Given the description of an element on the screen output the (x, y) to click on. 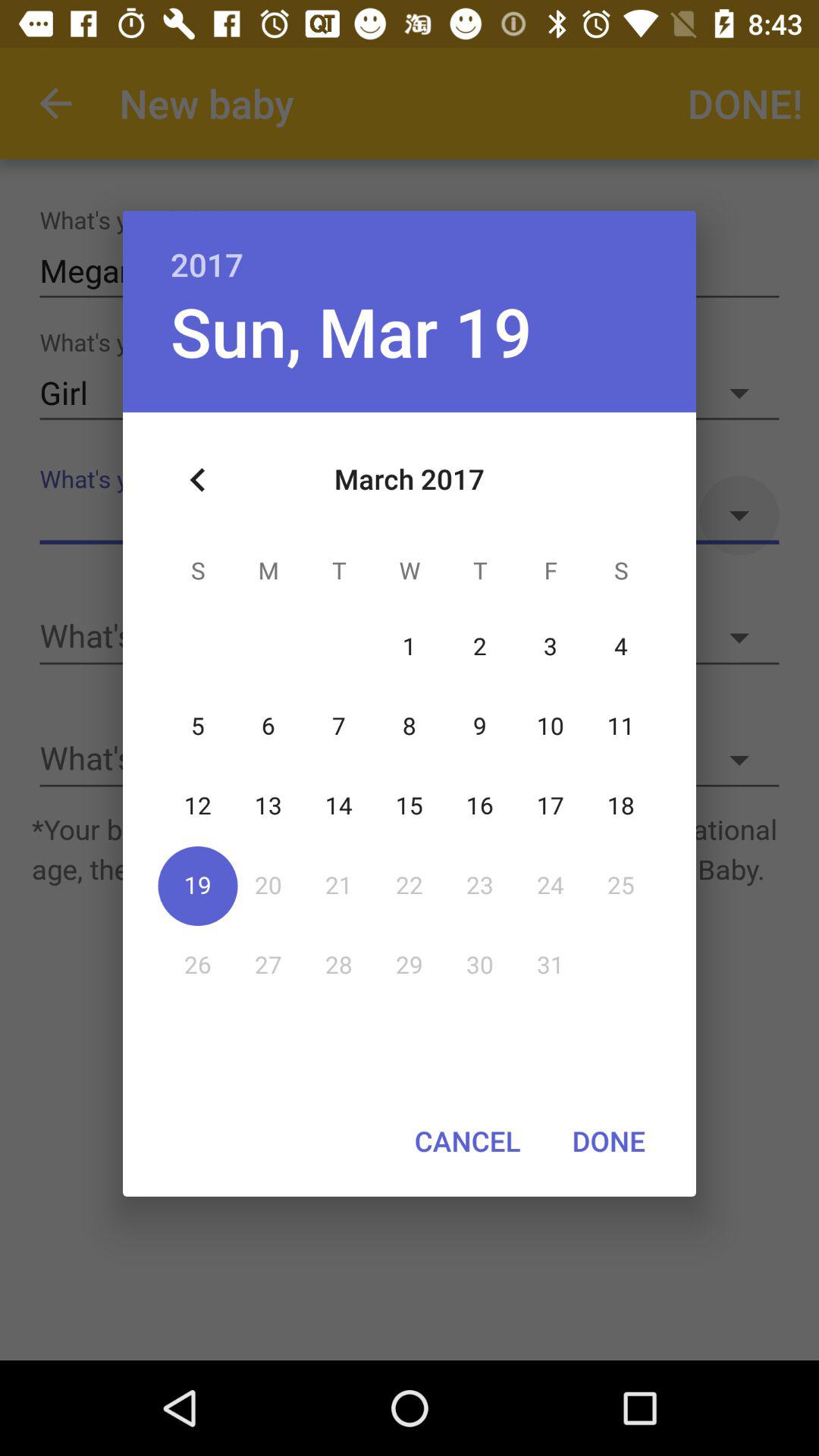
tap icon below 2017 item (351, 331)
